Given the description of an element on the screen output the (x, y) to click on. 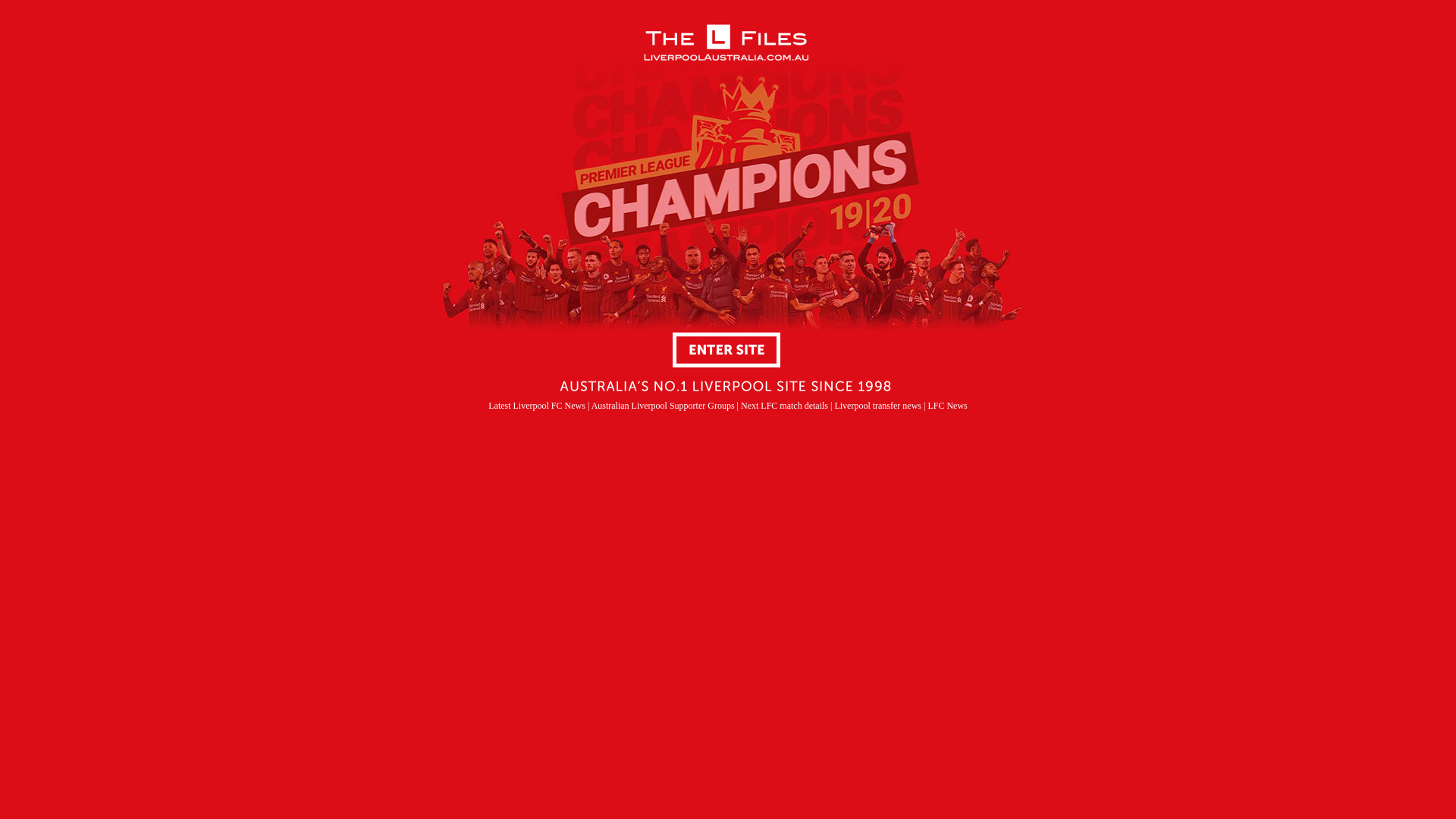
LFC News Element type: text (946, 405)
Liverpool transfer news Element type: text (877, 405)
Next LFC match details Element type: text (785, 405)
Latest Liverpool FC News Element type: text (536, 405)
Australian Liverpool Supporter Groups Element type: text (662, 405)
